Given the description of an element on the screen output the (x, y) to click on. 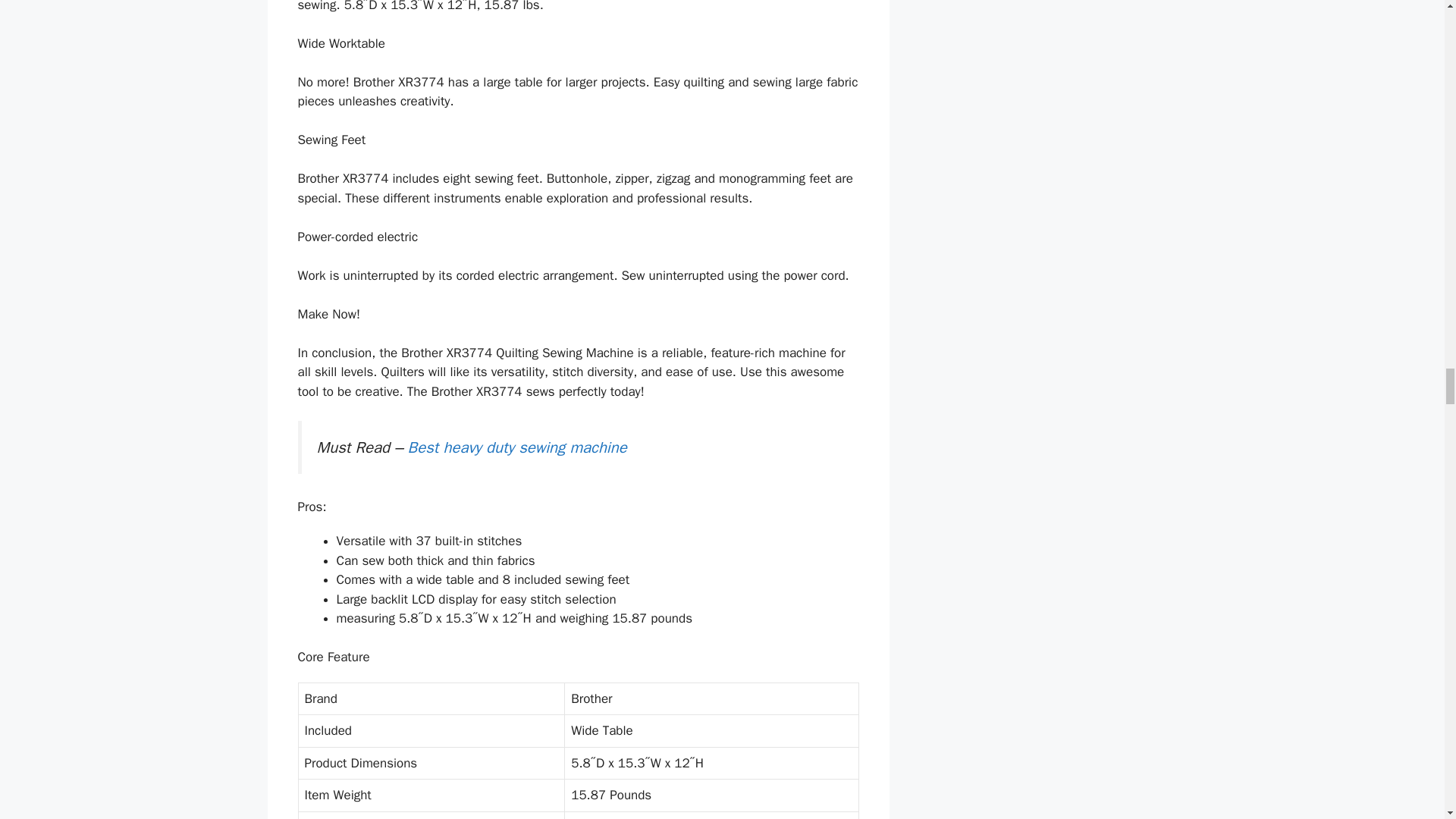
Best heavy duty sewing machine (517, 447)
